Given the description of an element on the screen output the (x, y) to click on. 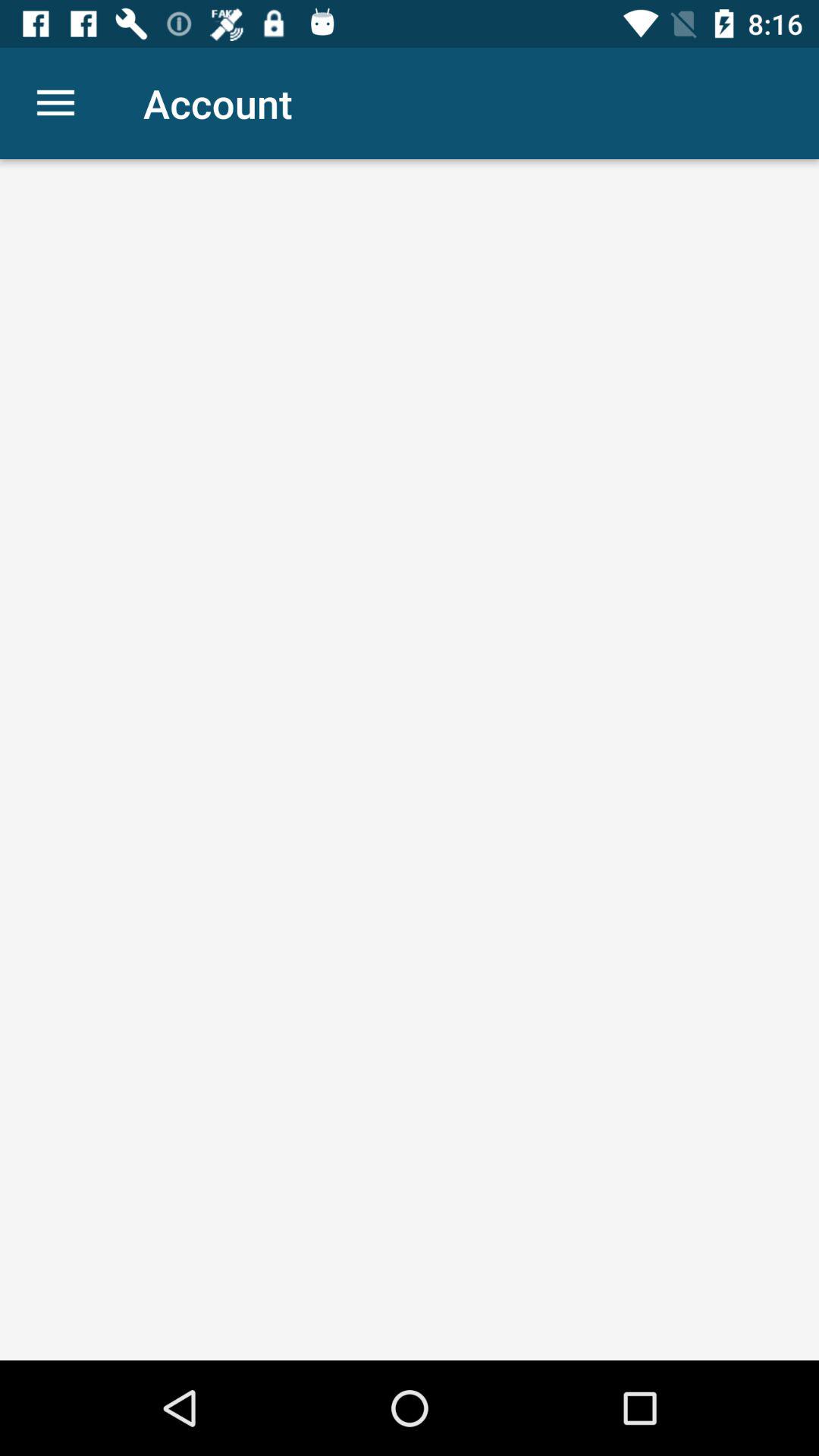
choose item next to account item (55, 103)
